Given the description of an element on the screen output the (x, y) to click on. 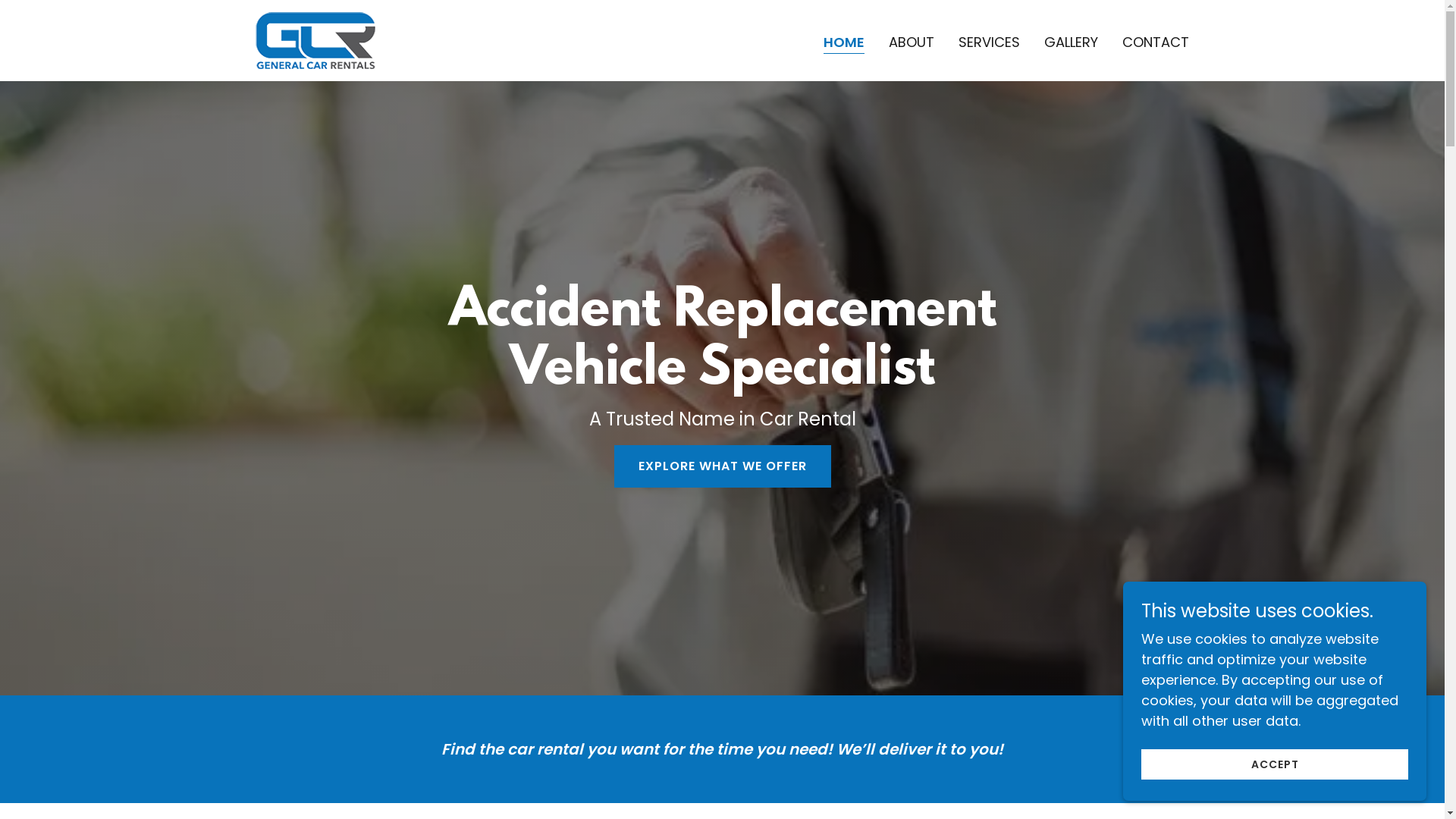
CONTACT Element type: text (1155, 42)
SERVICES Element type: text (988, 42)
ABOUT Element type: text (911, 42)
GALLERY Element type: text (1070, 42)
HOME Element type: text (843, 43)
ACCEPT Element type: text (1274, 764)
EXPLORE WHAT WE OFFER Element type: text (722, 466)
General Car Rentals Element type: hover (314, 38)
